Given the description of an element on the screen output the (x, y) to click on. 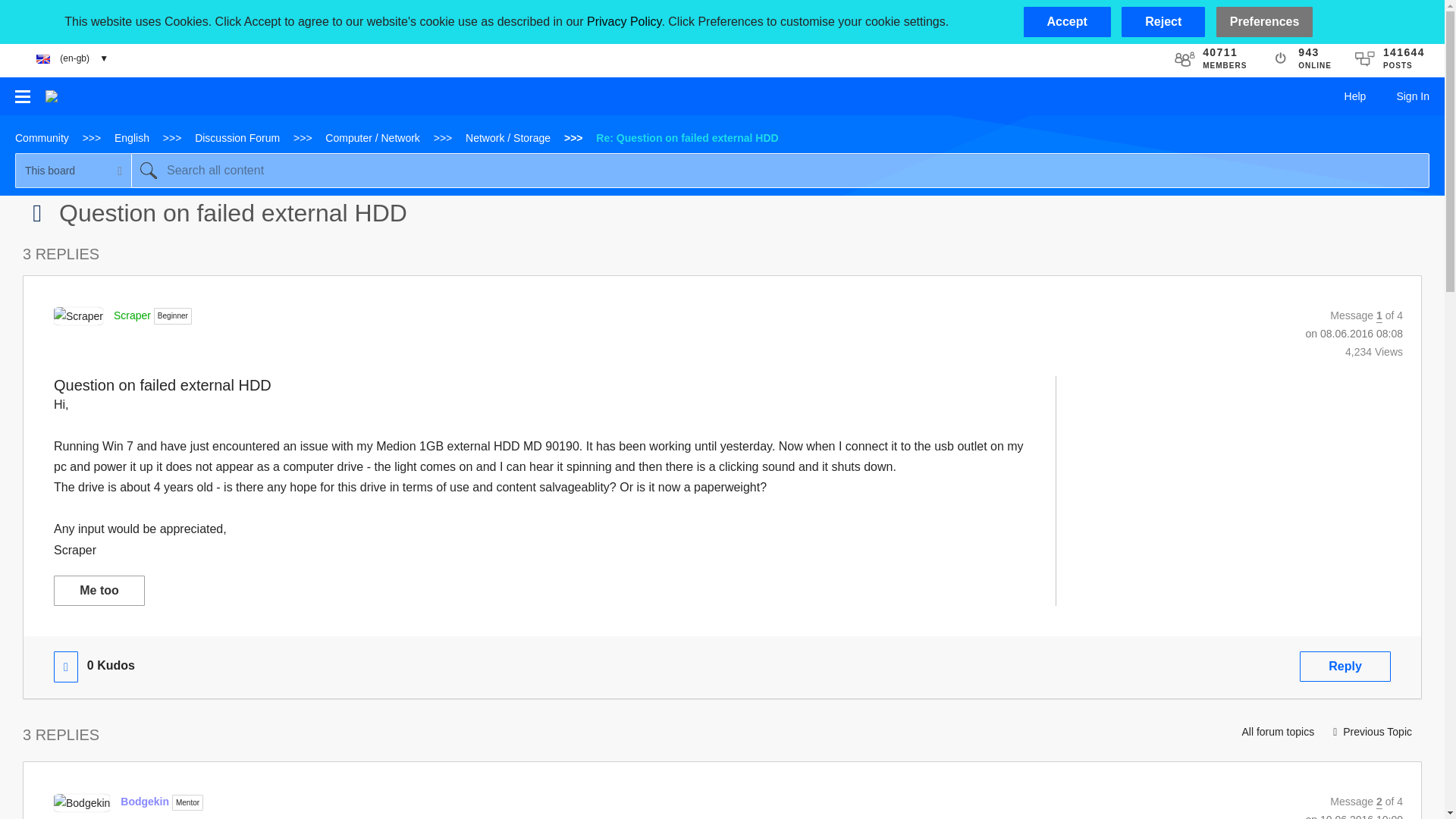
Privacy Policy (623, 21)
Help (1355, 95)
Search Granularity (72, 170)
Community (42, 137)
Search (148, 170)
Browse (22, 95)
Scraper (78, 316)
Search (780, 170)
Bodgekin (144, 801)
All forum topics (1277, 731)
Search (148, 170)
Me too (98, 590)
Preferences (1264, 21)
Previous Topic (1372, 731)
Discussion Forum (236, 137)
